Given the description of an element on the screen output the (x, y) to click on. 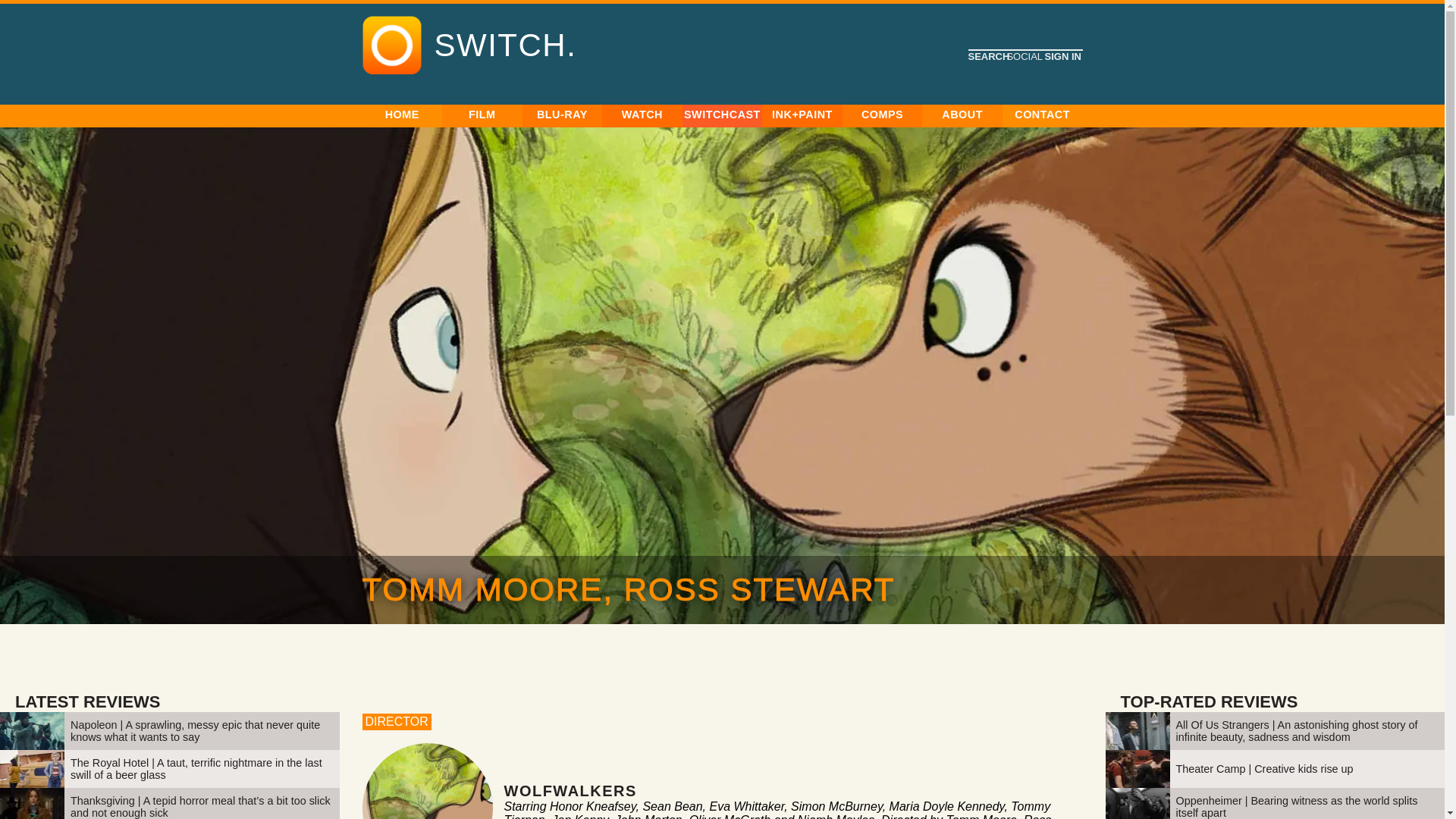
WATCH Element type: text (641, 114)
HOME Element type: text (402, 114)
ABOUT Element type: text (961, 114)
WOLFWALKERS Element type: text (569, 785)
SIGN IN Element type: text (771, 199)
FILM Element type: text (481, 114)
COMPS Element type: text (882, 114)
CONTACT Element type: text (1042, 114)
SWITCH. Element type: text (504, 45)
SEARCH Element type: text (986, 56)
INK+PAINT Element type: text (801, 114)
SWITCHCAST Element type: text (722, 114)
SIGN IN Element type: text (1062, 56)
JOIN NOW Element type: text (479, 167)
BLU-RAY Element type: text (561, 114)
Theater Camp | Creative kids rise up Element type: text (1263, 768)
FORGOT PASSWORD? Element type: text (880, 199)
